Given the description of an element on the screen output the (x, y) to click on. 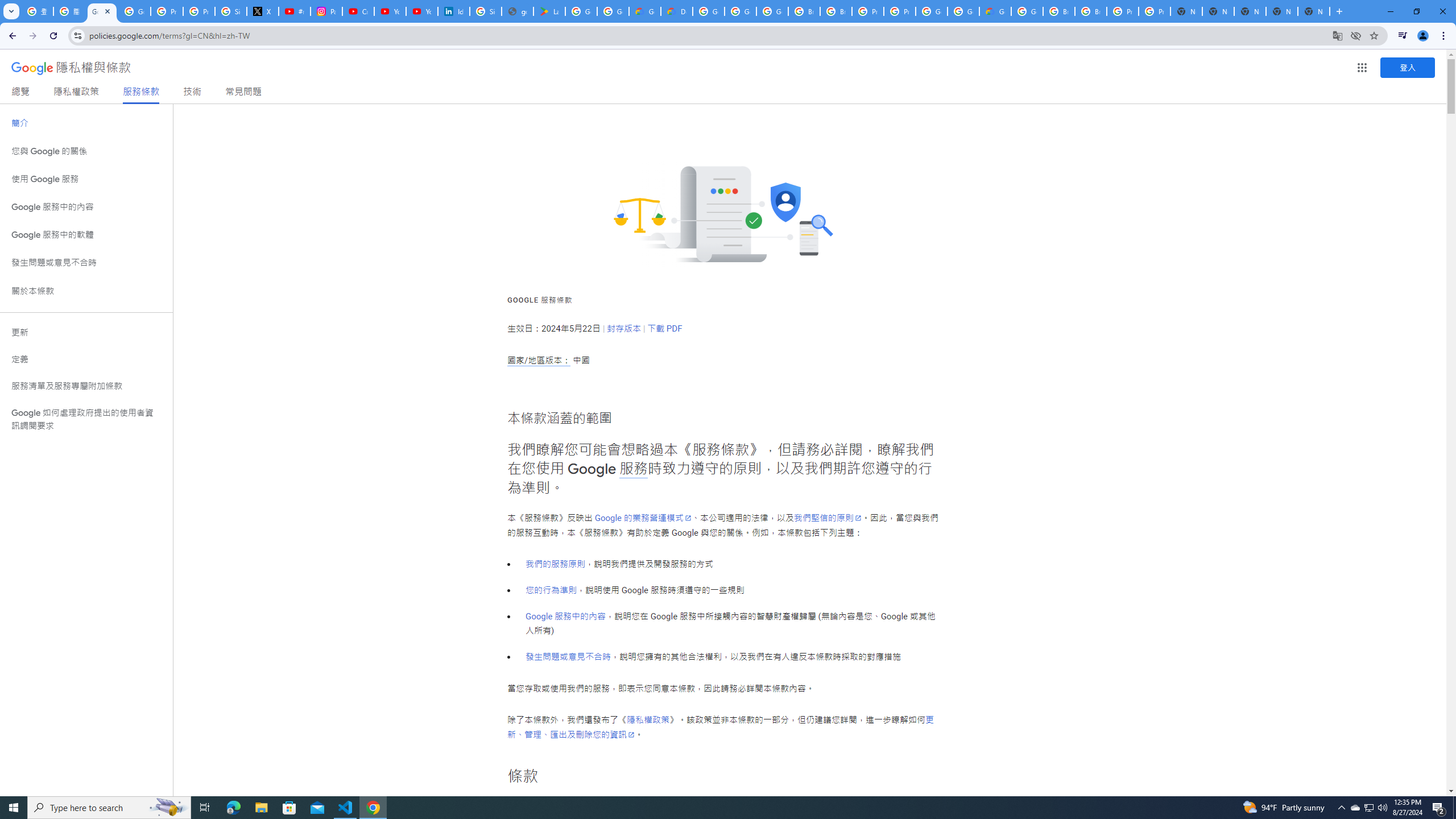
Government | Google Cloud (644, 11)
Sign in - Google Accounts (485, 11)
Browse Chrome as a guest - Computer - Google Chrome Help (804, 11)
Third-party cookies blocked (1355, 35)
